Given the description of an element on the screen output the (x, y) to click on. 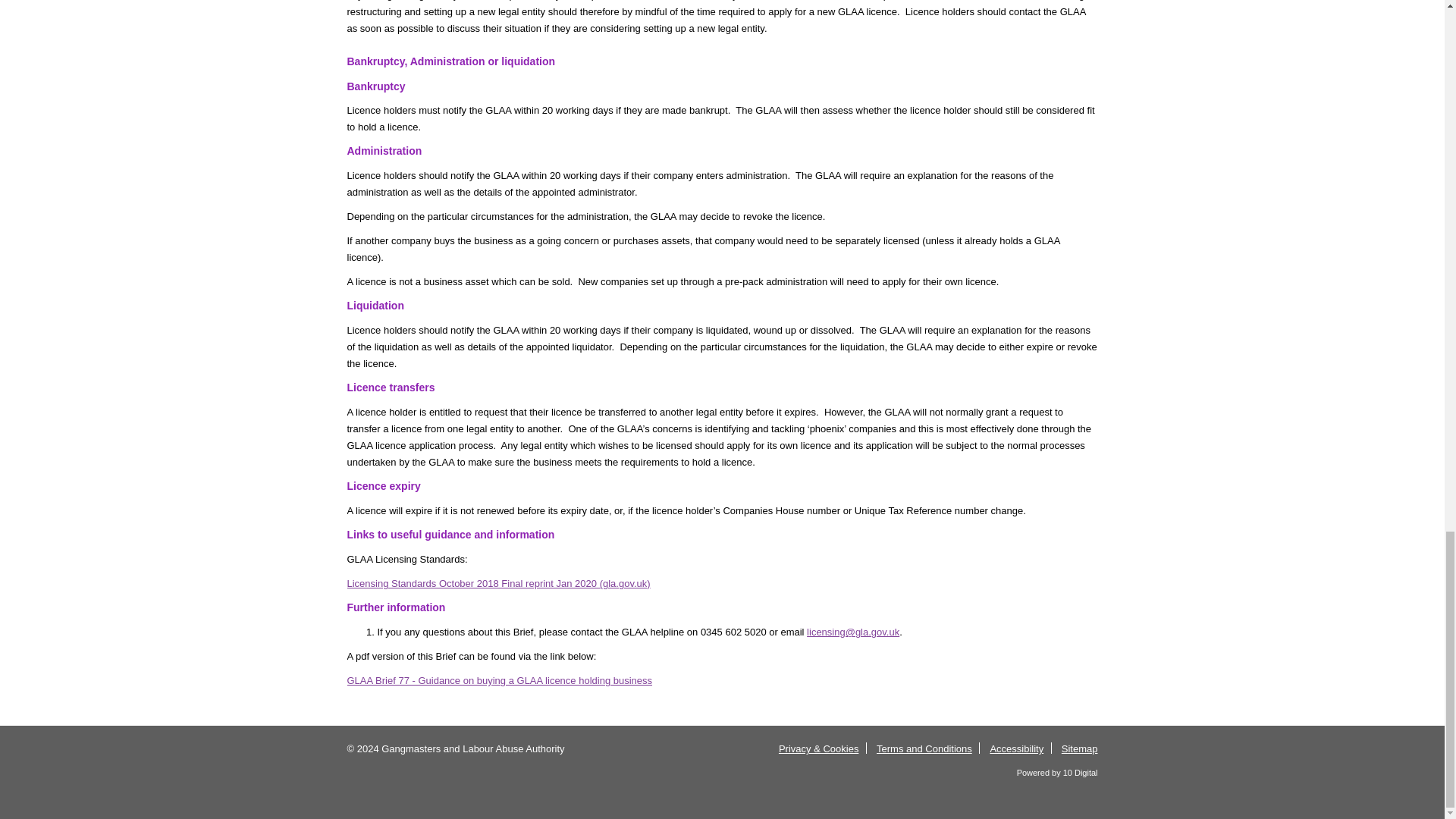
Powered by 10 Digital (1056, 772)
